Given the description of an element on the screen output the (x, y) to click on. 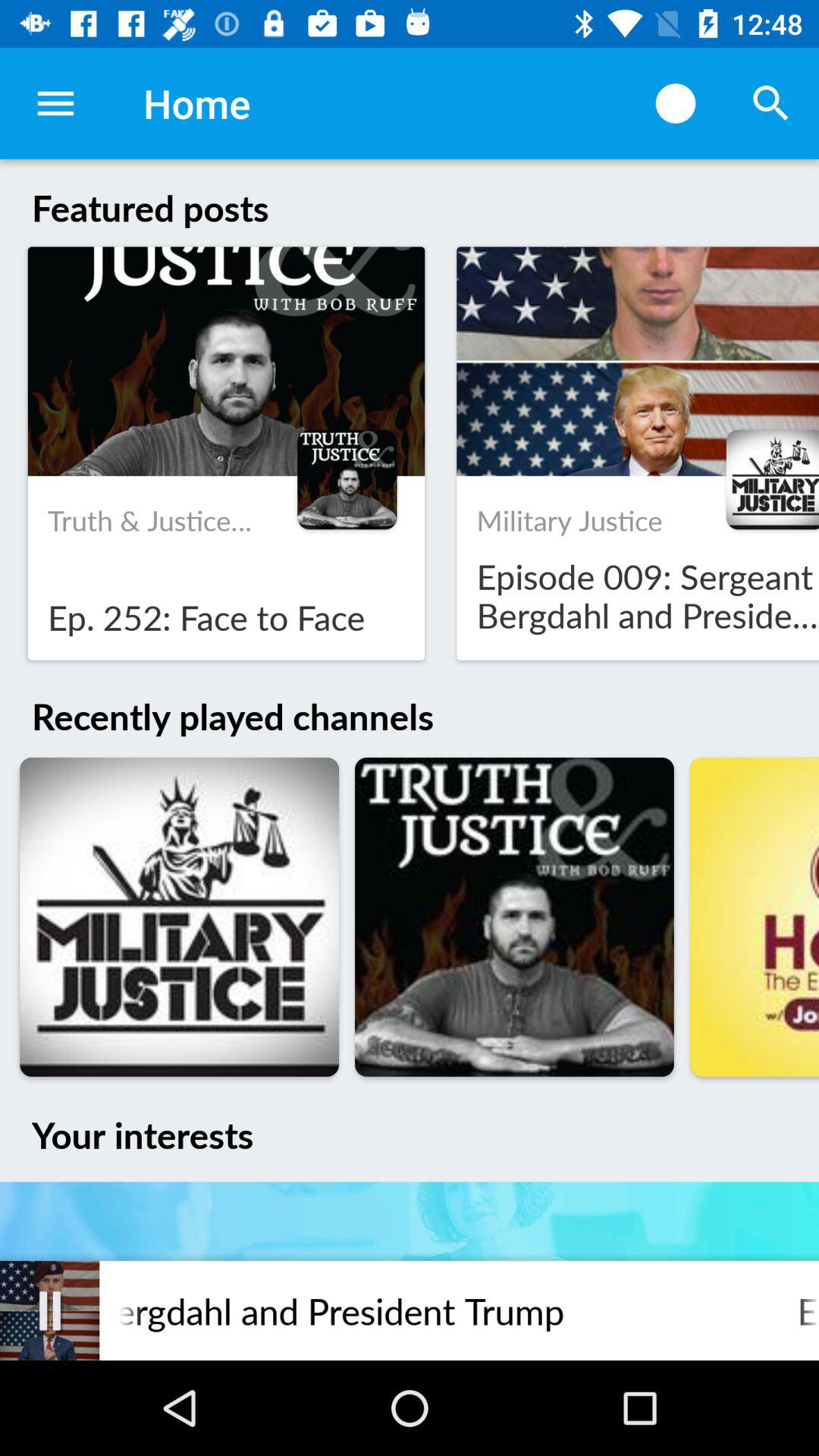
turn on the item above the featured posts item (675, 103)
